Given the description of an element on the screen output the (x, y) to click on. 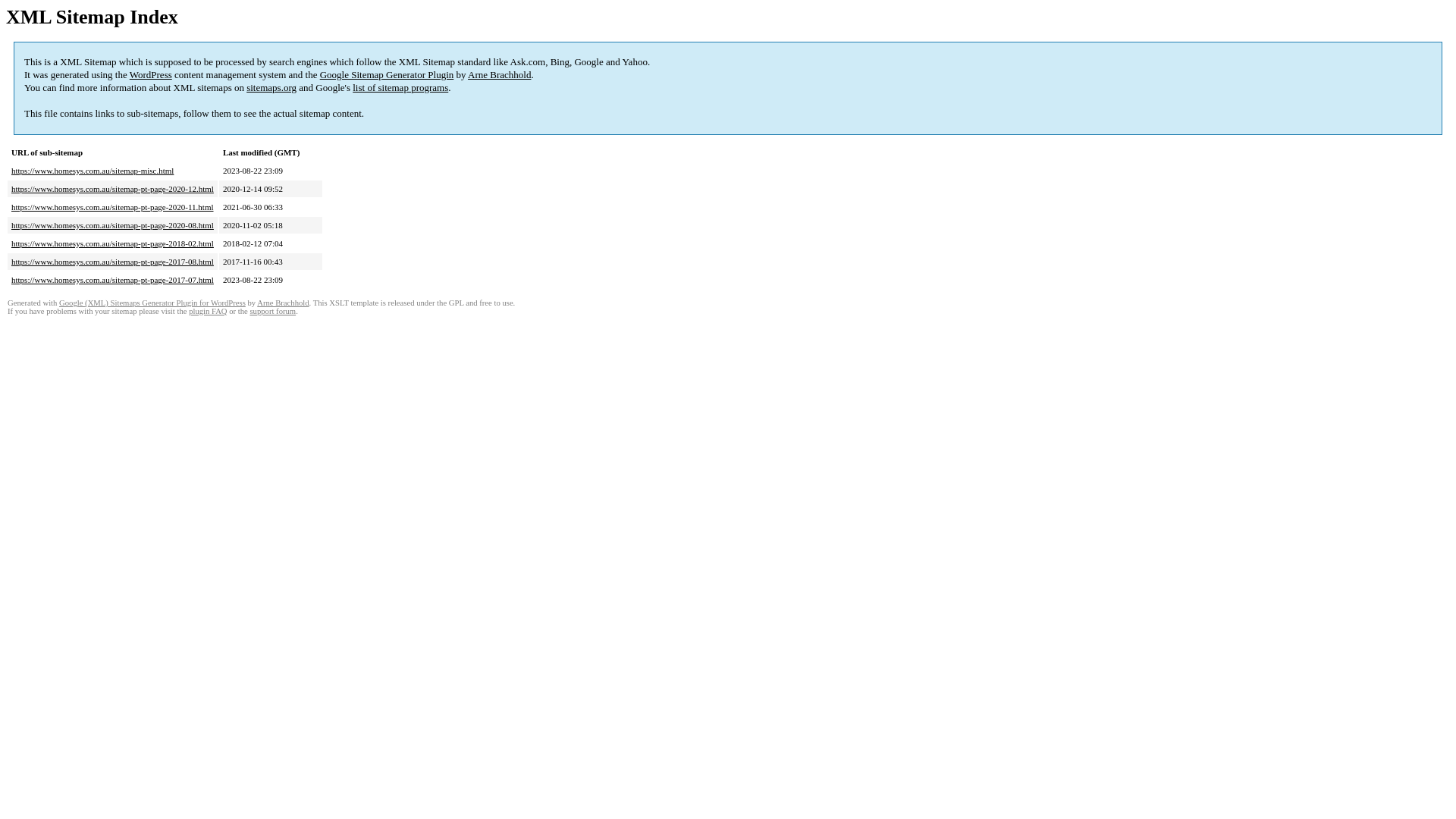
sitemaps.org Element type: text (271, 87)
https://www.homesys.com.au/sitemap-pt-page-2020-08.html Element type: text (112, 224)
https://www.homesys.com.au/sitemap-pt-page-2020-12.html Element type: text (112, 188)
https://www.homesys.com.au/sitemap-misc.html Element type: text (92, 170)
https://www.homesys.com.au/sitemap-pt-page-2020-11.html Element type: text (112, 206)
https://www.homesys.com.au/sitemap-pt-page-2017-08.html Element type: text (112, 261)
list of sitemap programs Element type: text (400, 87)
support forum Element type: text (272, 311)
Google Sitemap Generator Plugin Element type: text (387, 74)
https://www.homesys.com.au/sitemap-pt-page-2018-02.html Element type: text (112, 242)
WordPress Element type: text (150, 74)
https://www.homesys.com.au/sitemap-pt-page-2017-07.html Element type: text (112, 279)
Arne Brachhold Element type: text (282, 302)
plugin FAQ Element type: text (207, 311)
Arne Brachhold Element type: text (498, 74)
Google (XML) Sitemaps Generator Plugin for WordPress Element type: text (152, 302)
